Given the description of an element on the screen output the (x, y) to click on. 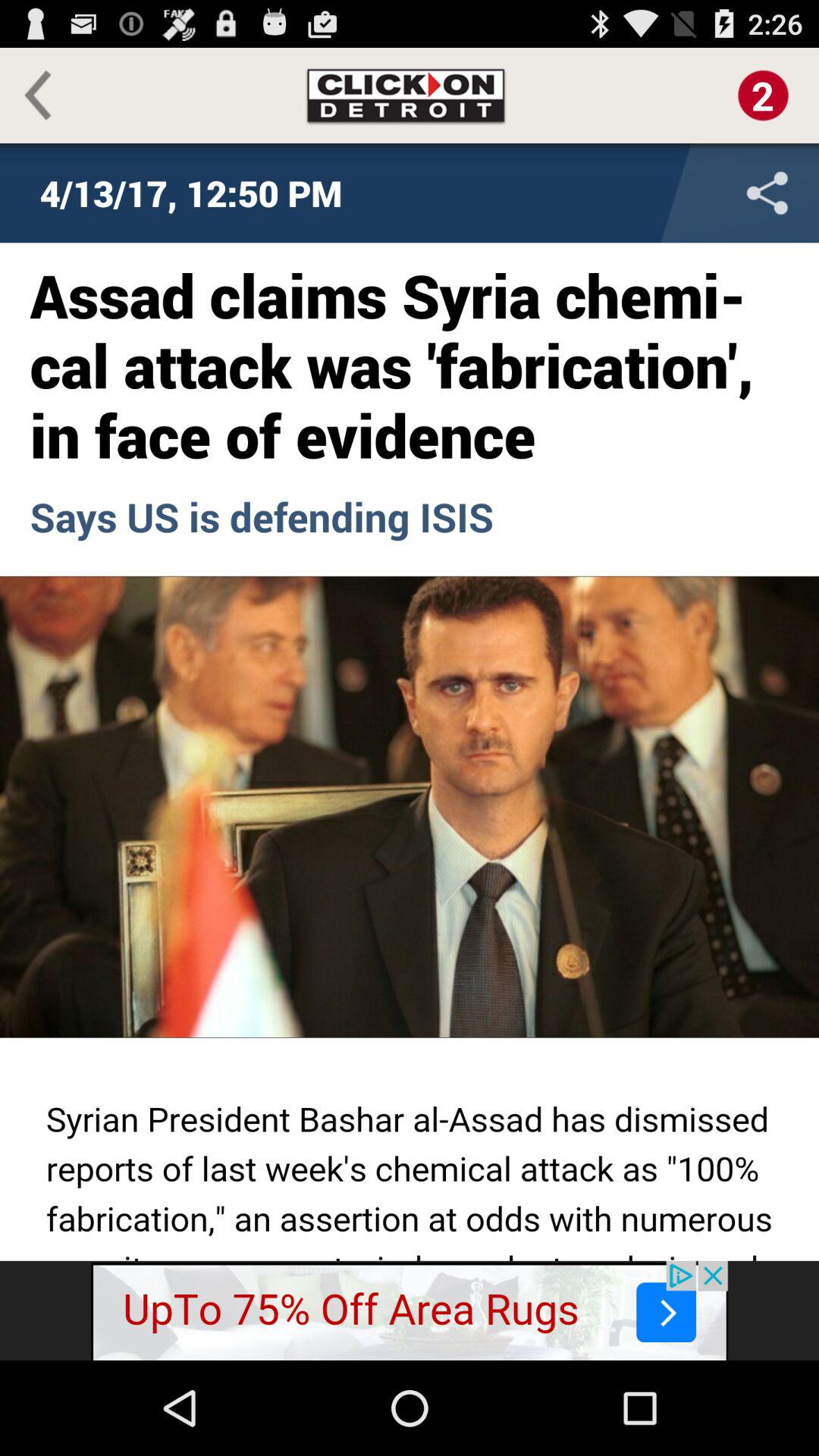
share the article (667, 192)
